Given the description of an element on the screen output the (x, y) to click on. 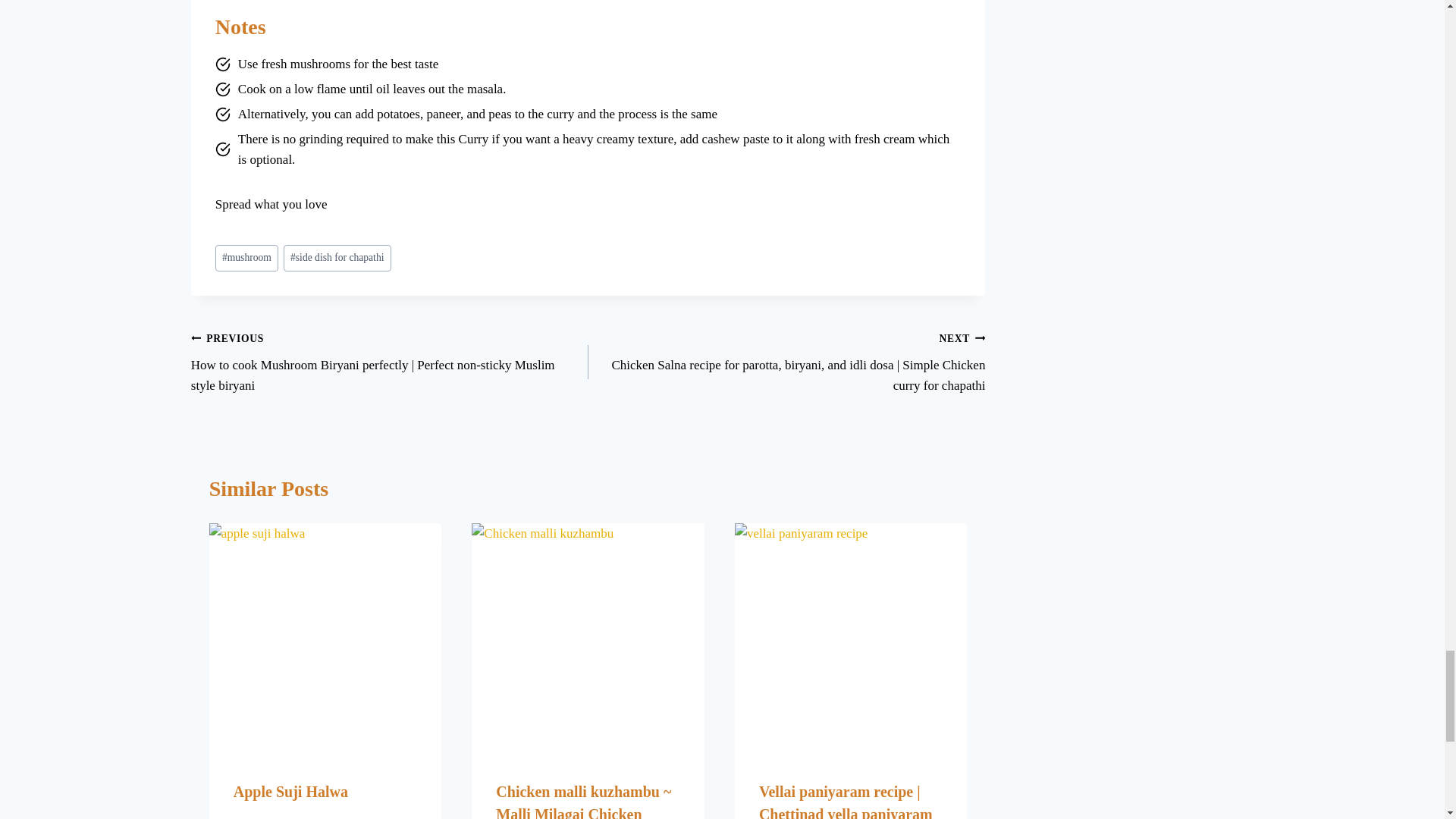
mushroom (246, 257)
side dish for chapathi (337, 257)
